Given the description of an element on the screen output the (x, y) to click on. 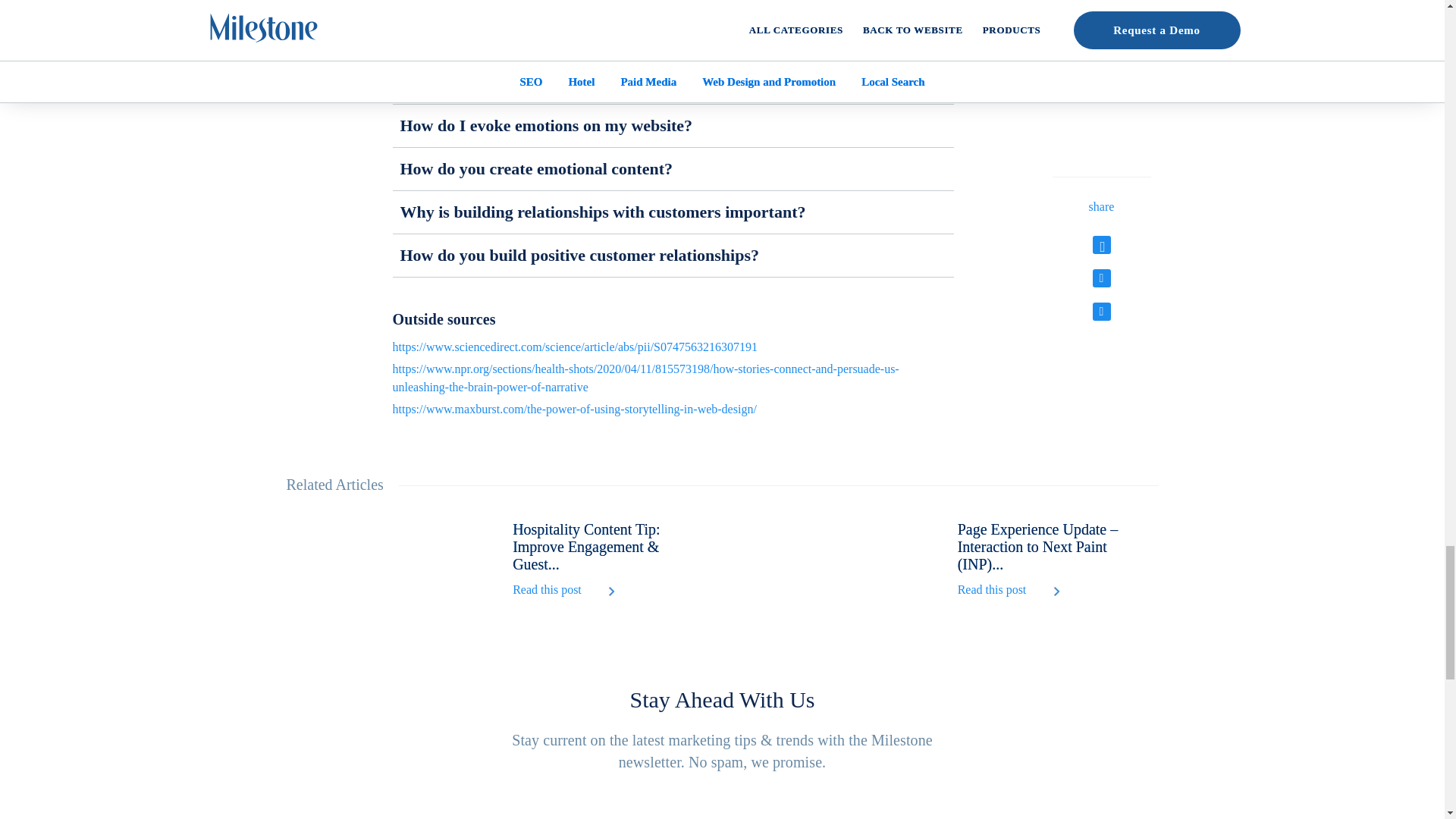
How do you build positive customer relationships? (673, 255)
What is emotion in website design? (673, 82)
How do I evoke emotions on my website? (673, 125)
Read this post (546, 594)
How do you create emotional content? (673, 169)
Why is building relationships with customers important? (673, 211)
